Given the description of an element on the screen output the (x, y) to click on. 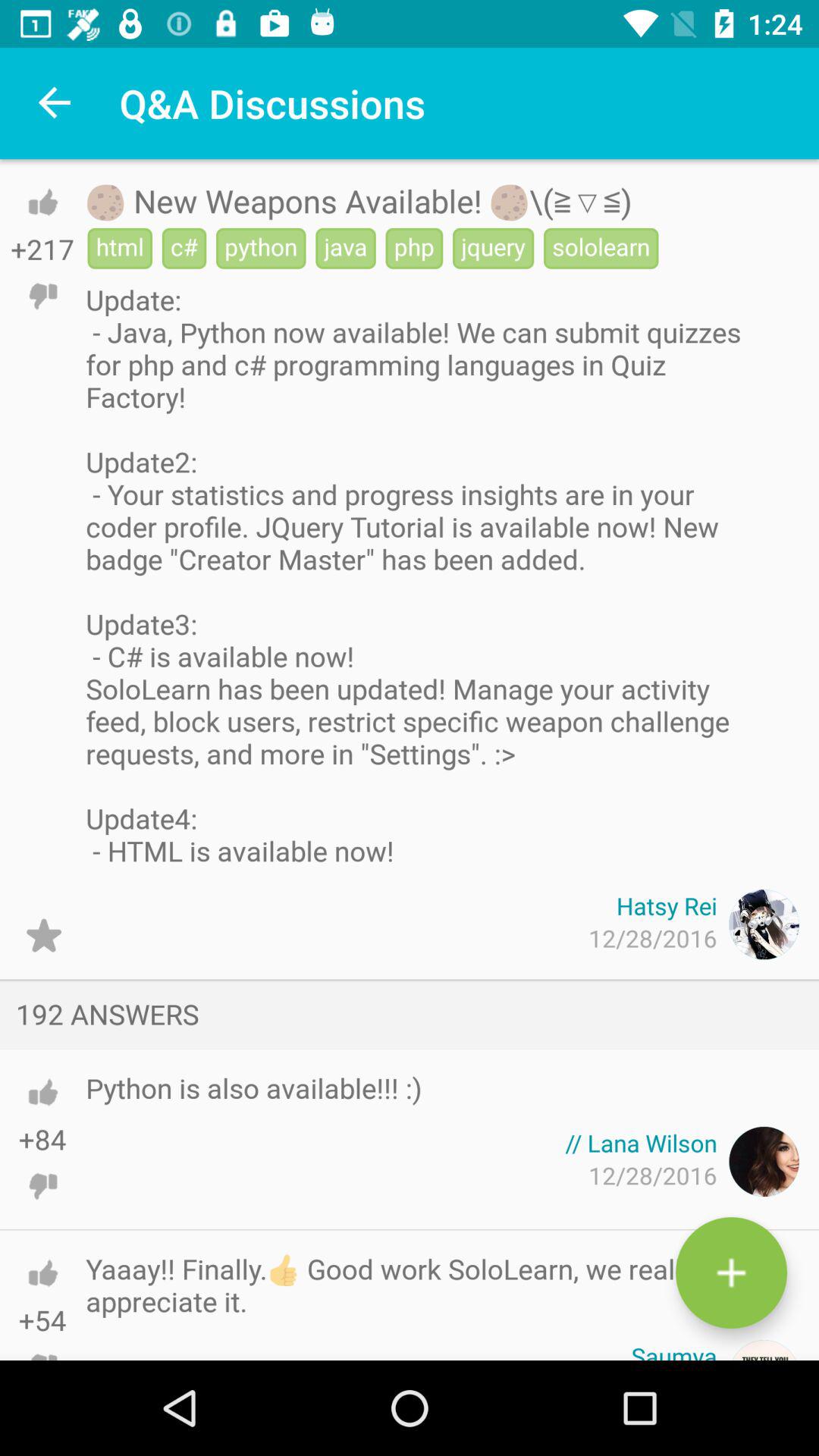
reopen to like (42, 202)
